Given the description of an element on the screen output the (x, y) to click on. 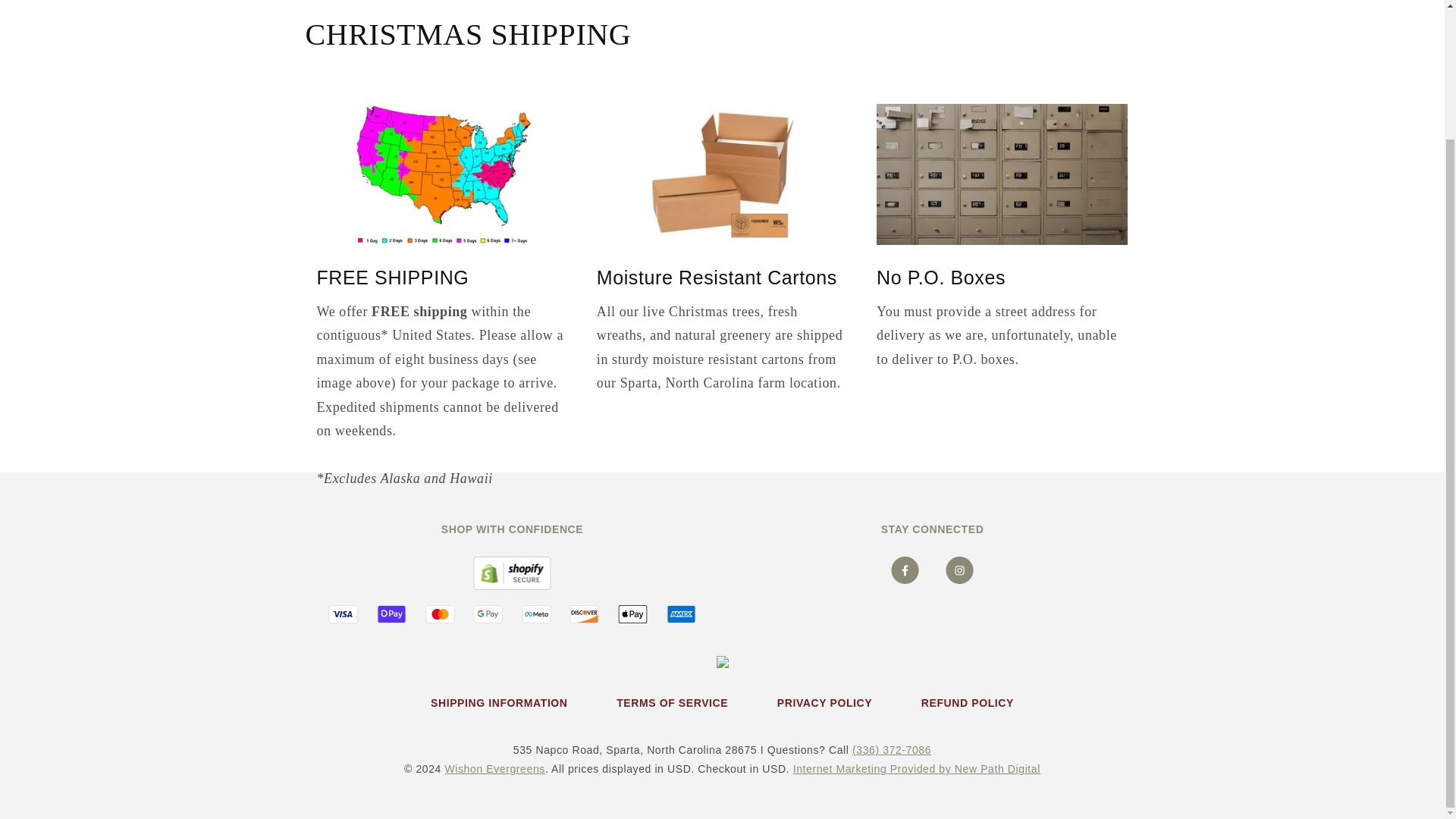
SHIPPING INFORMATION (499, 703)
REFUND POLICY (967, 703)
TERMS OF SERVICE (672, 703)
PRIVACY POLICY (824, 703)
